Given the description of an element on the screen output the (x, y) to click on. 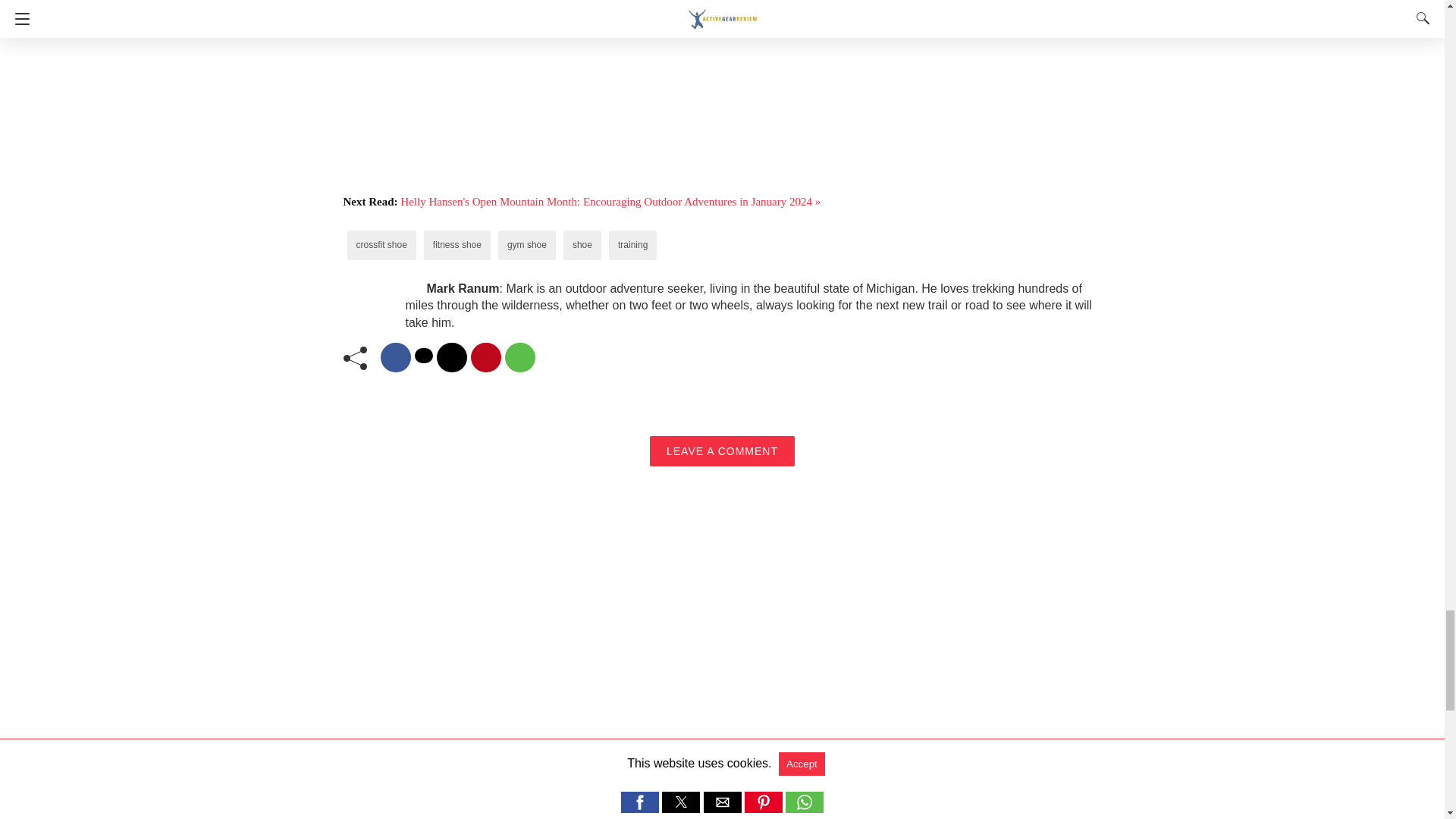
LEAVE A COMMENT (721, 450)
fitness shoe (456, 244)
facebook share (395, 357)
mailto (451, 357)
crossfit shoe (381, 244)
training (632, 244)
whatsapp share (520, 357)
Jack Wolfskin Cyrox Texapore Mid W Hiking Boot Review (618, 803)
pinterest share (485, 357)
gym shoe (526, 244)
